Given the description of an element on the screen output the (x, y) to click on. 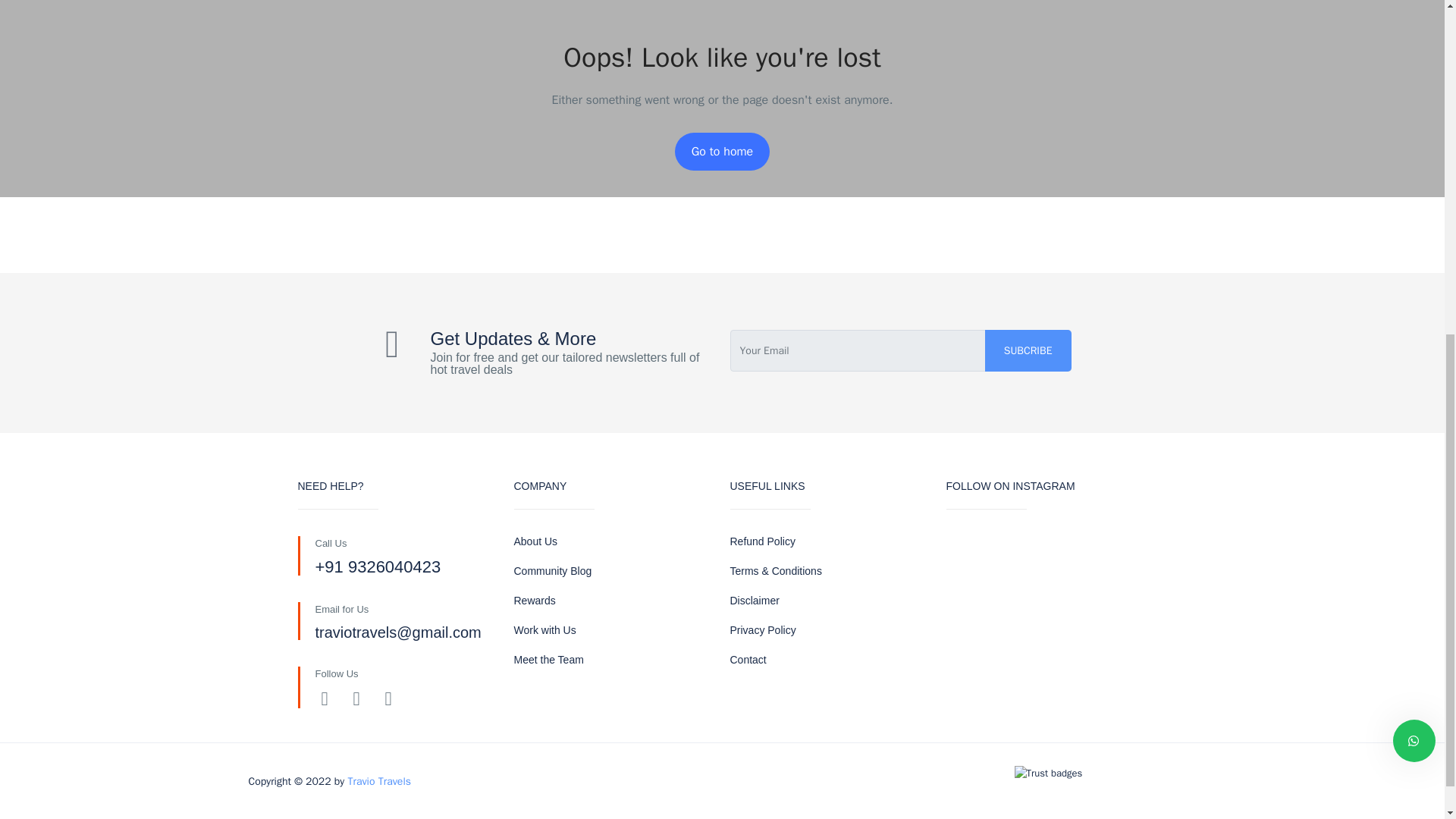
Meet the Team (548, 659)
Subcribe (1028, 350)
Refund Policy (761, 541)
Travio Travels (378, 780)
Work with Us (544, 630)
About Us (535, 541)
Community Blog (552, 571)
Subcribe (1028, 350)
Disclaimer (753, 600)
Rewards (534, 600)
Go to home (722, 151)
Privacy Policy (761, 630)
Contact (747, 659)
